Given the description of an element on the screen output the (x, y) to click on. 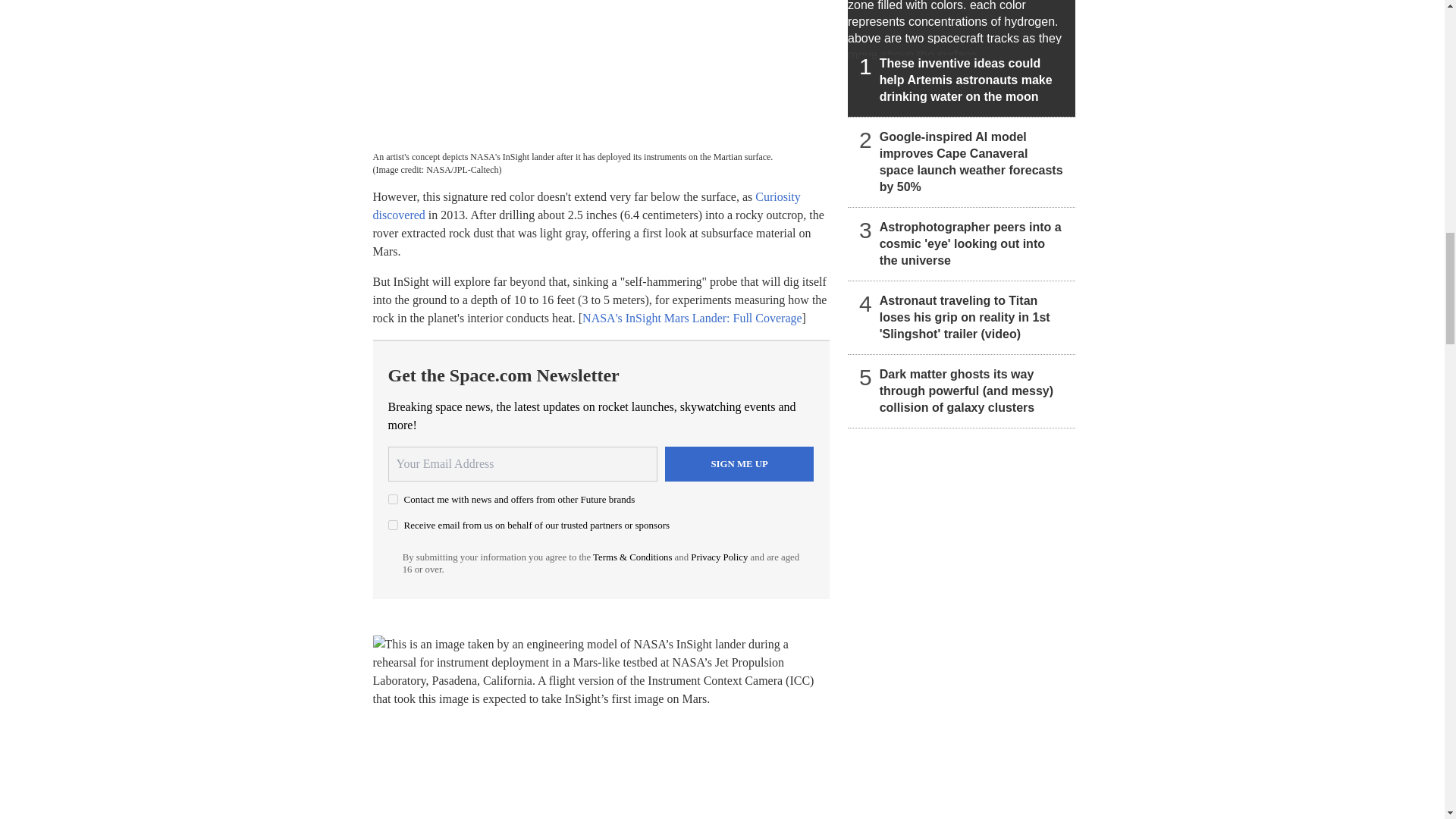
on (392, 524)
Sign me up (739, 463)
on (392, 499)
